Given the description of an element on the screen output the (x, y) to click on. 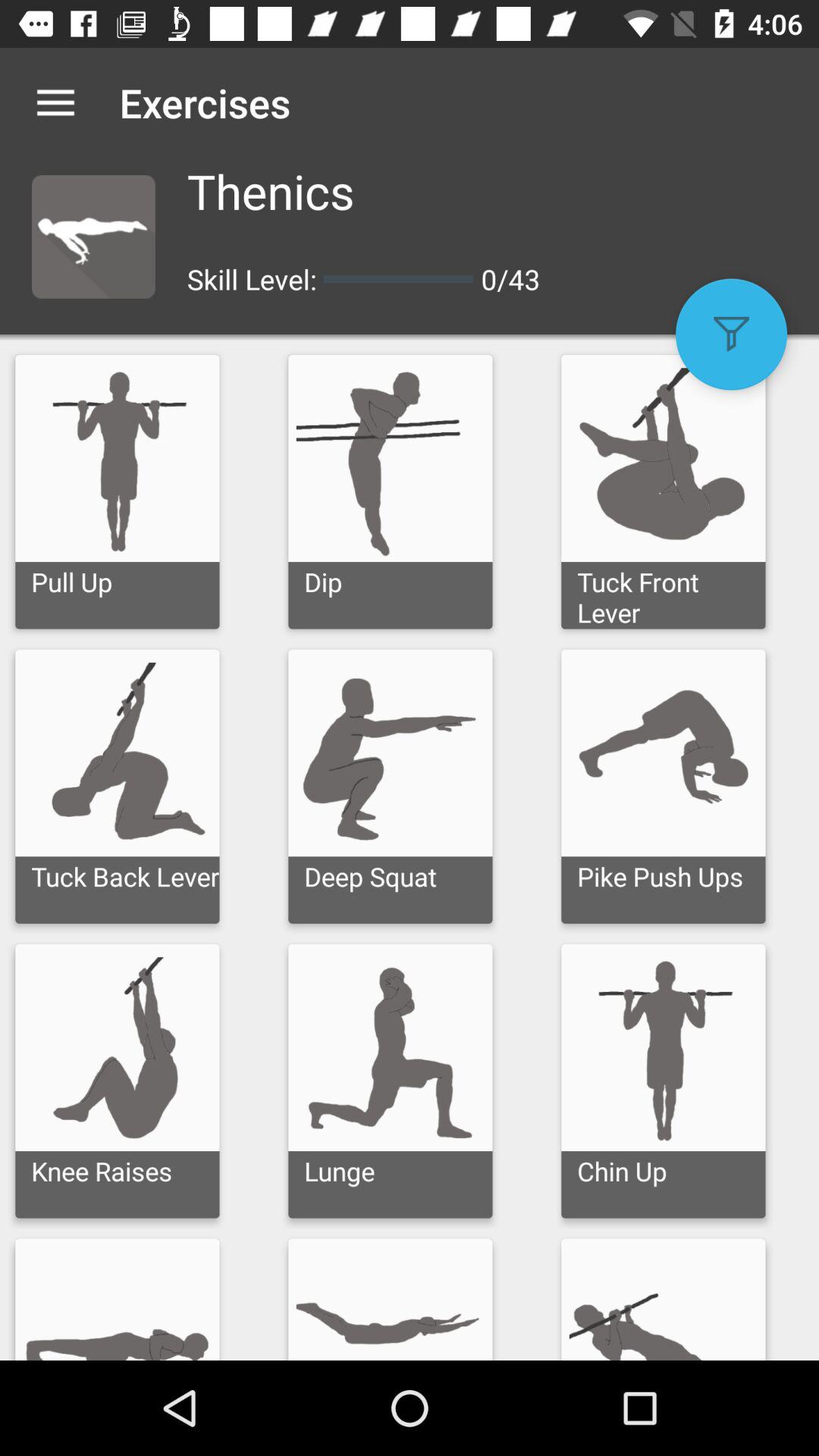
choose the item next to the 0/43 (731, 334)
